Given the description of an element on the screen output the (x, y) to click on. 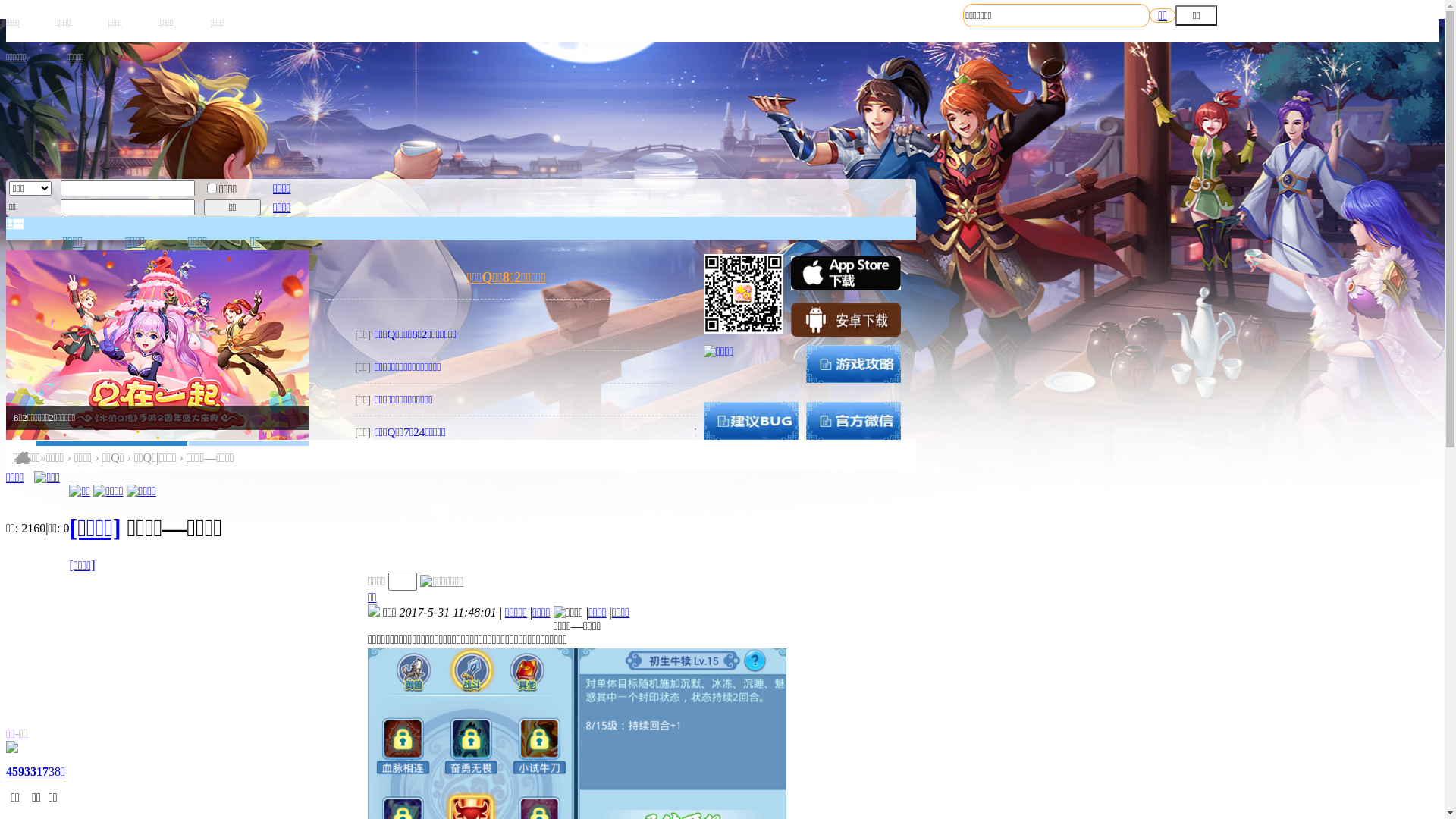
3317 Element type: text (36, 771)
459 Element type: text (15, 771)
